Given the description of an element on the screen output the (x, y) to click on. 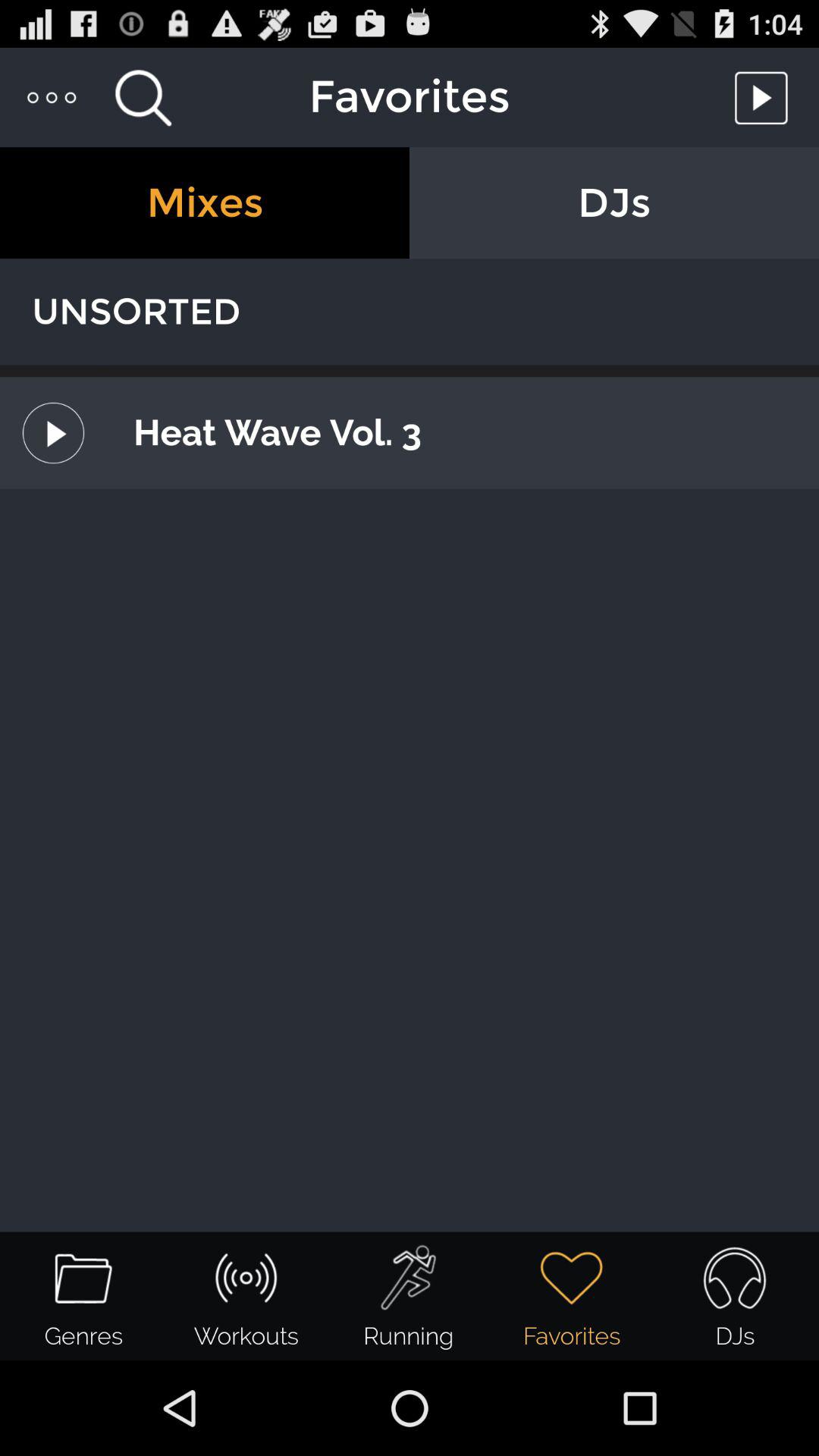
jump until heat wave vol icon (459, 432)
